Given the description of an element on the screen output the (x, y) to click on. 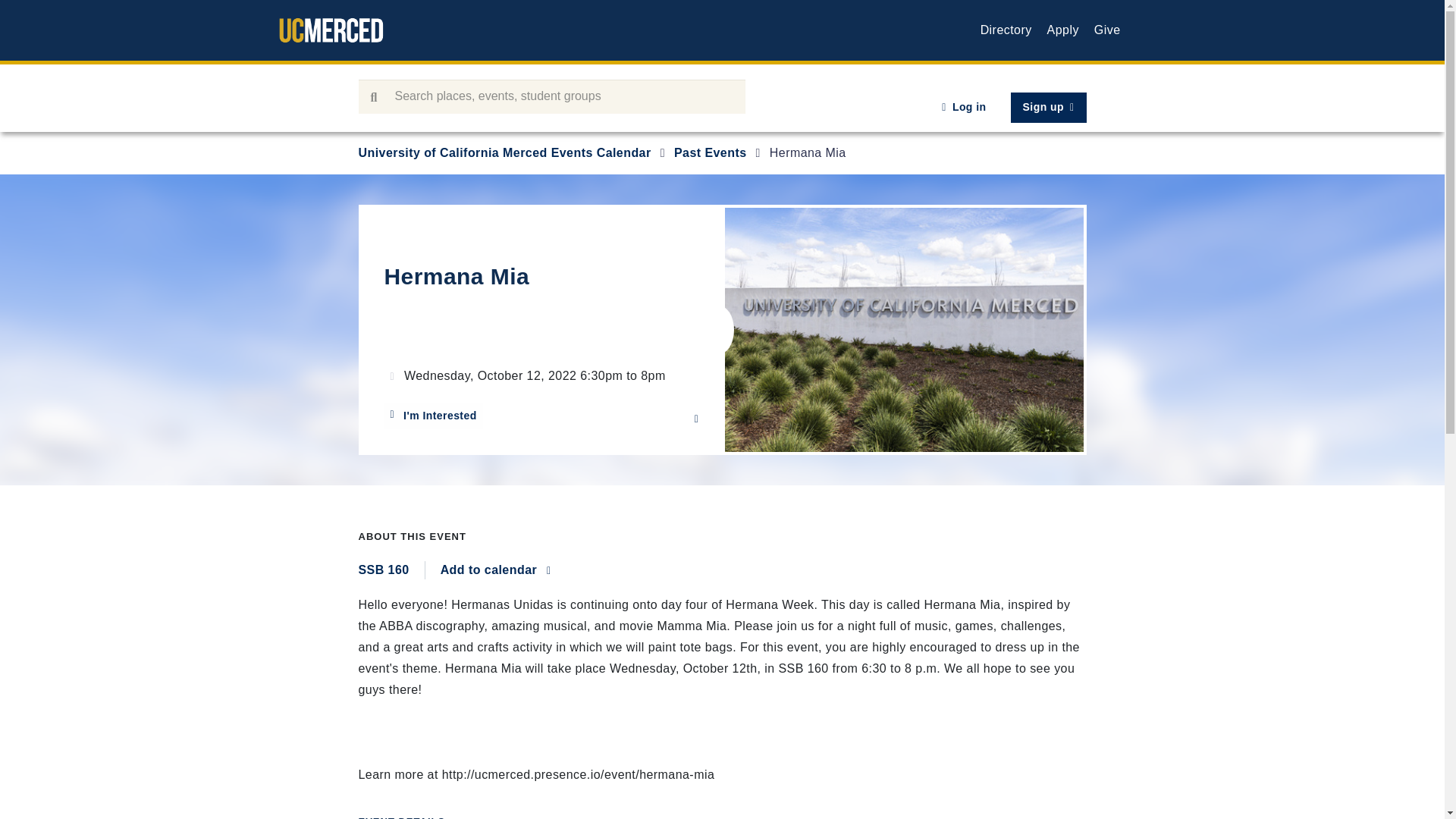
I'm Interested (432, 416)
University of California Merced Events Calendar (504, 152)
Give (1107, 30)
SSB 160 (391, 570)
Past Events (710, 152)
Apply (1062, 30)
Sign up (1048, 107)
Log in (963, 107)
Add to calendar (496, 570)
Directory (1005, 30)
